Given the description of an element on the screen output the (x, y) to click on. 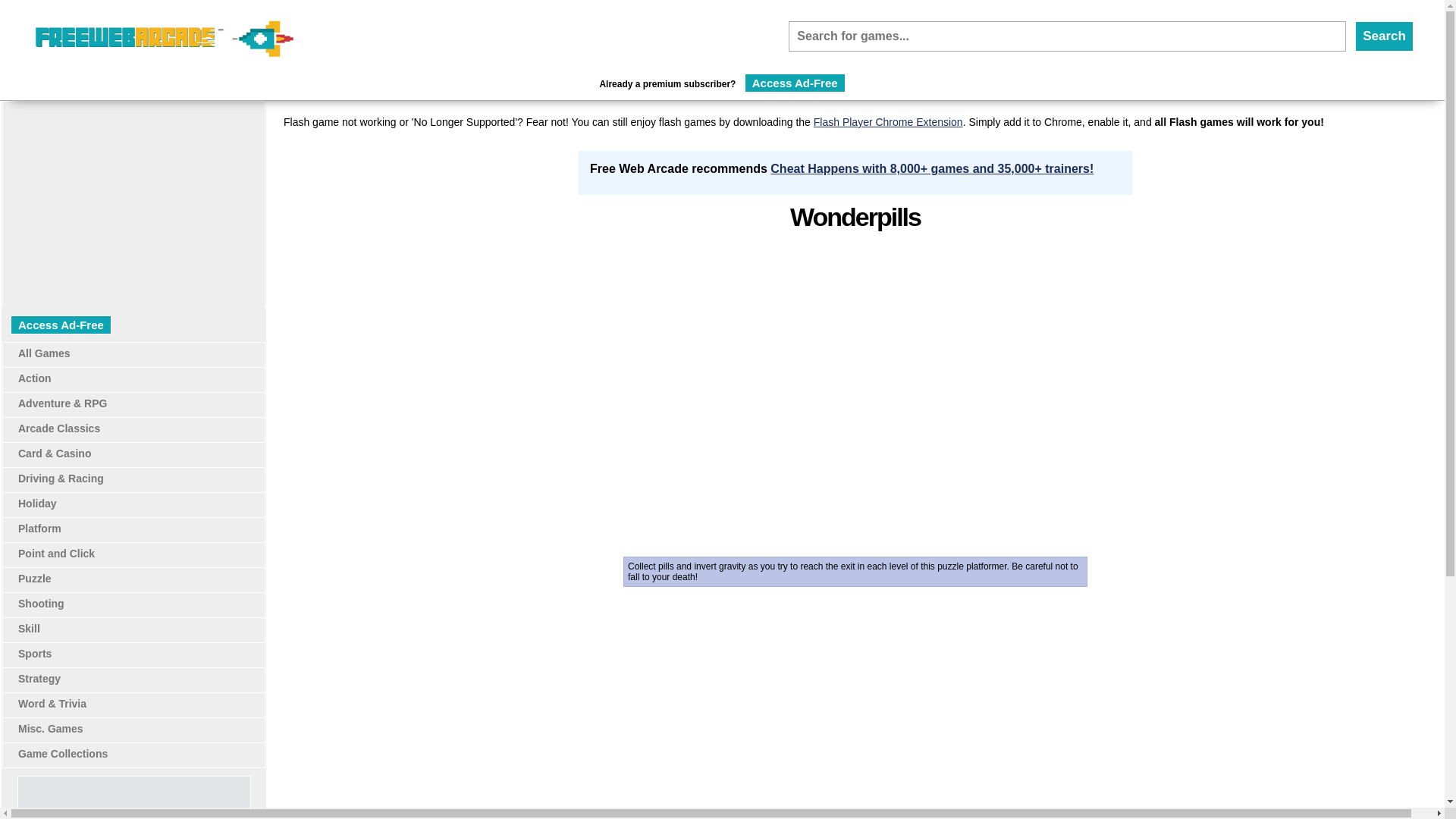
Search (1384, 36)
Point and Click (55, 553)
Access Ad-Free (61, 324)
Sports (33, 653)
Skill (28, 628)
Search (1384, 36)
Holiday (36, 503)
Platform (39, 528)
Strategy (39, 678)
Shooting (40, 603)
All Games (43, 353)
Game Collections (62, 753)
Arcade Classics (58, 428)
Access Ad-Free (794, 82)
Flash Player Chrome Extension (887, 121)
